Given the description of an element on the screen output the (x, y) to click on. 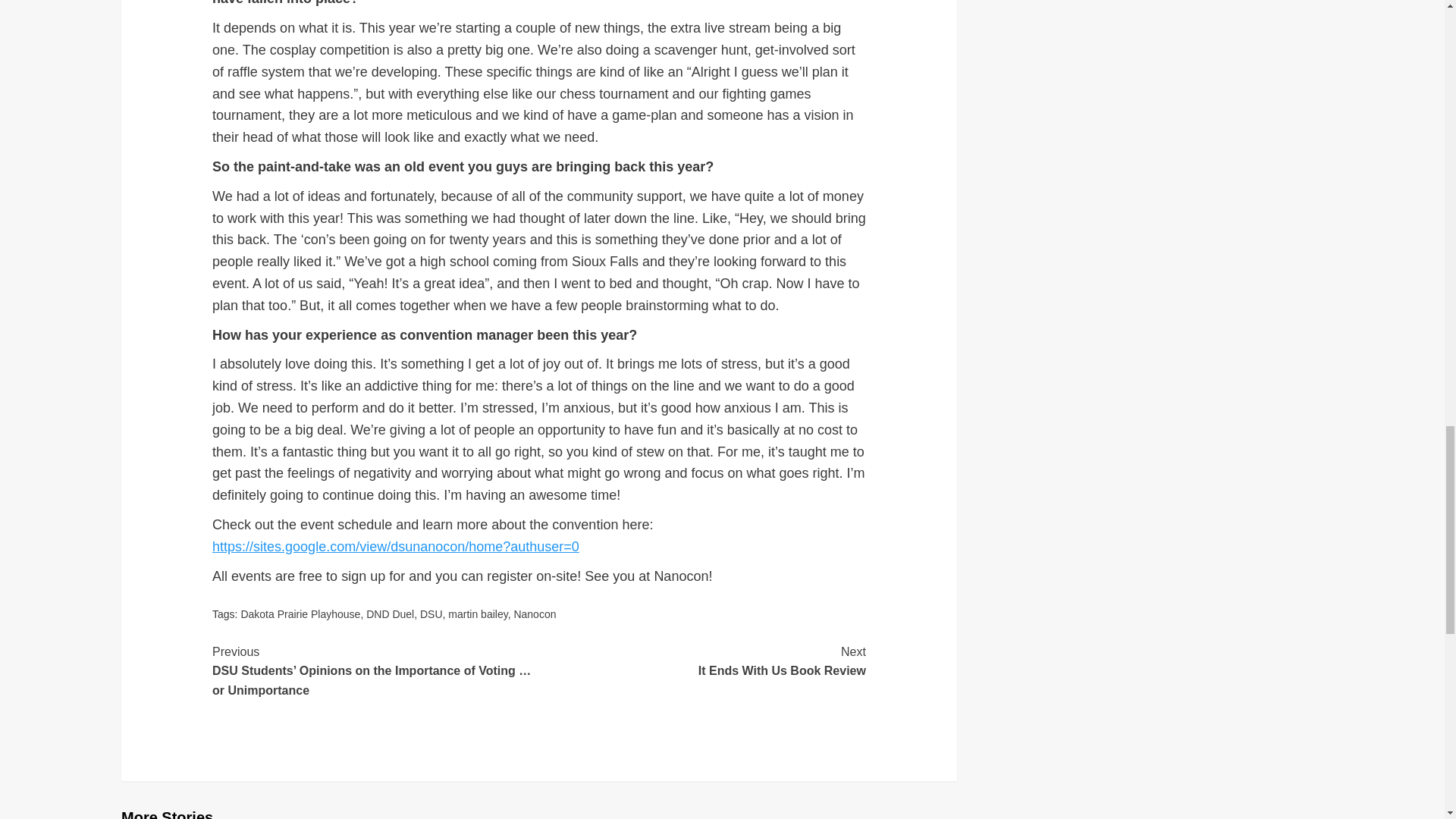
DSU (431, 613)
Dakota Prairie Playhouse (299, 613)
Nanocon (534, 613)
DND Duel (702, 661)
martin bailey (389, 613)
